Given the description of an element on the screen output the (x, y) to click on. 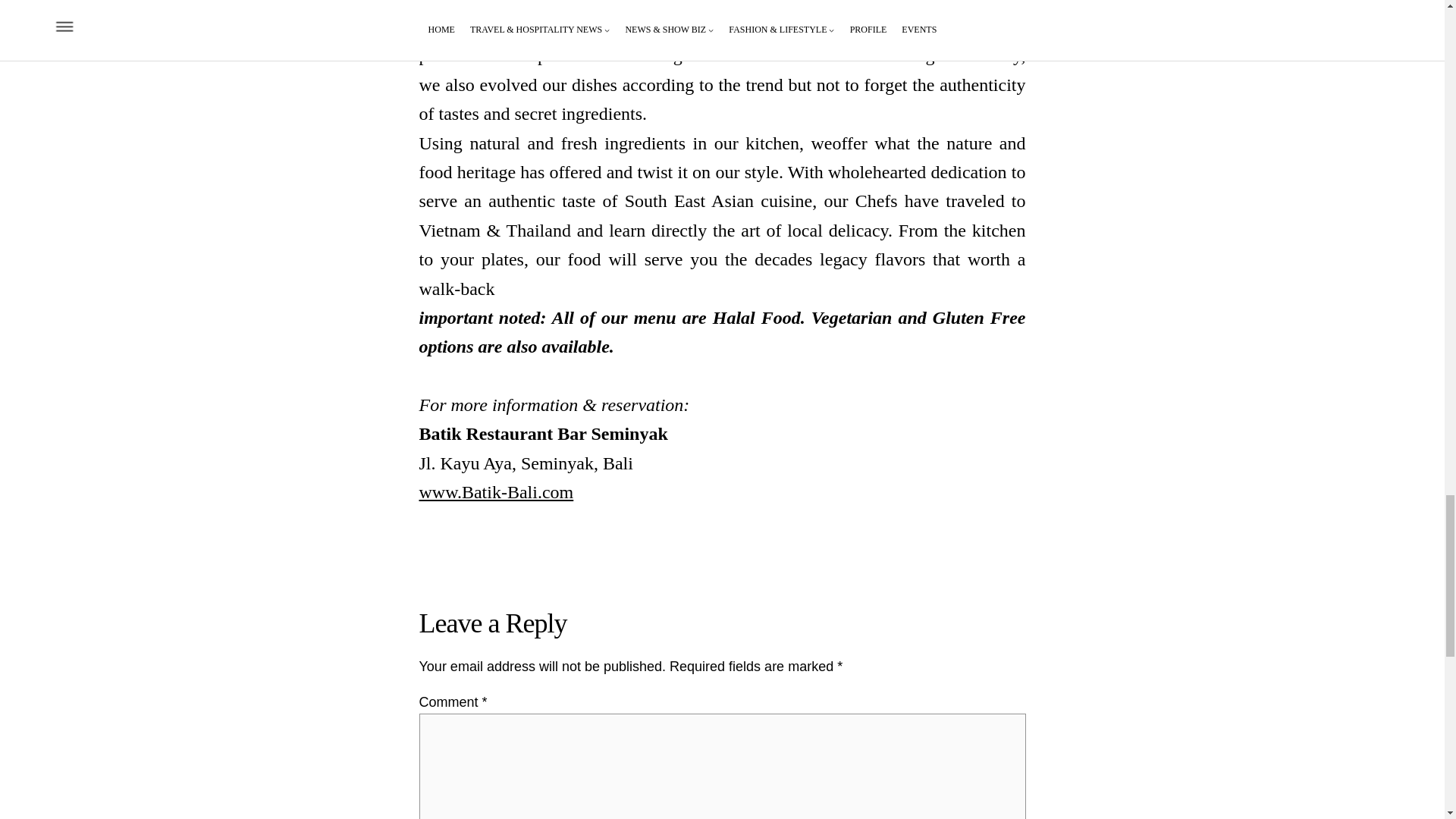
www.Batik-Bali.com (496, 492)
